Given the description of an element on the screen output the (x, y) to click on. 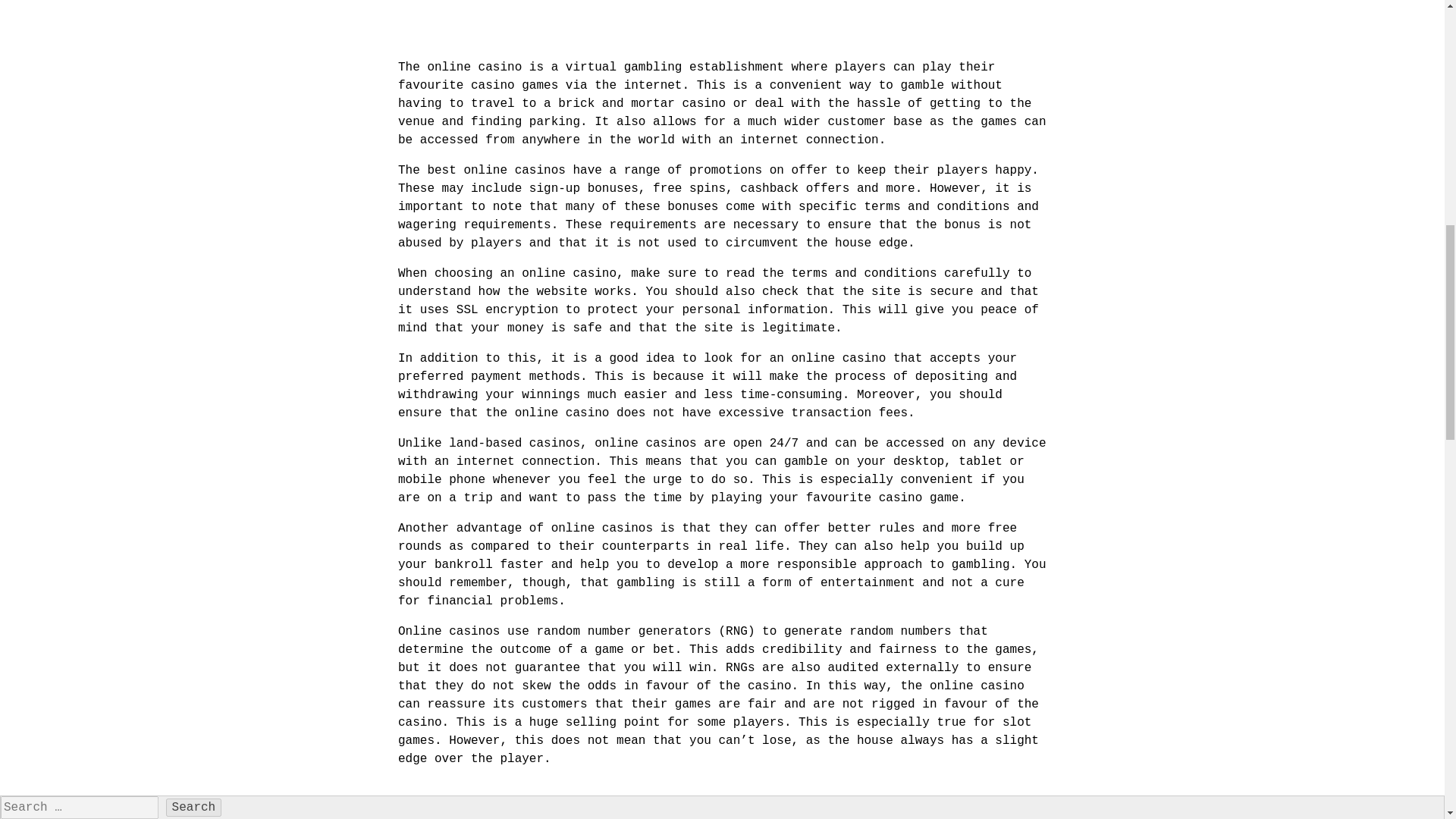
Search (193, 807)
Search (193, 807)
Search (193, 807)
